Given the description of an element on the screen output the (x, y) to click on. 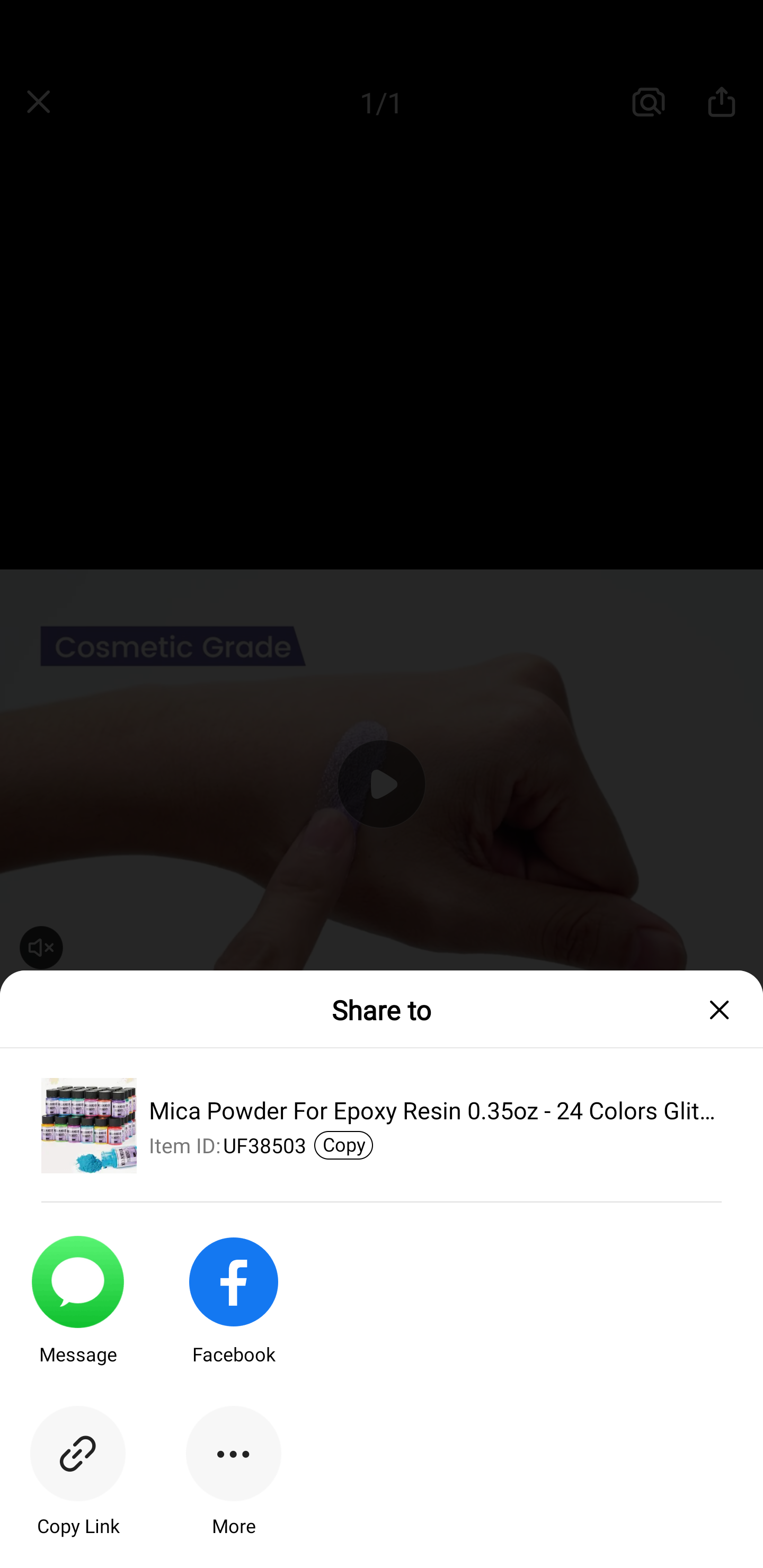
close (724, 1009)
Copy (343, 1145)
Message (77, 1315)
Facebook (233, 1315)
Copy Link (77, 1487)
More (233, 1487)
